Given the description of an element on the screen output the (x, y) to click on. 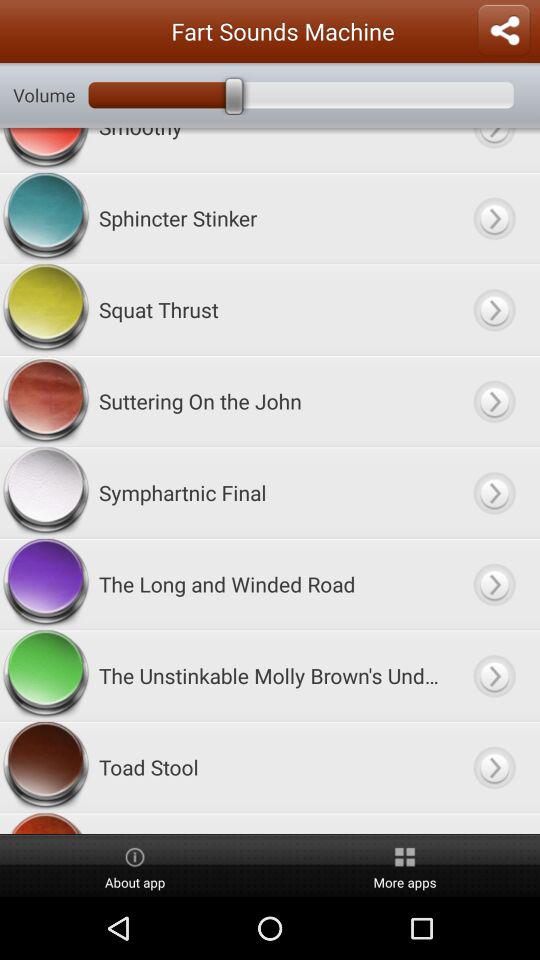
scroll to the more apps (405, 866)
